Given the description of an element on the screen output the (x, y) to click on. 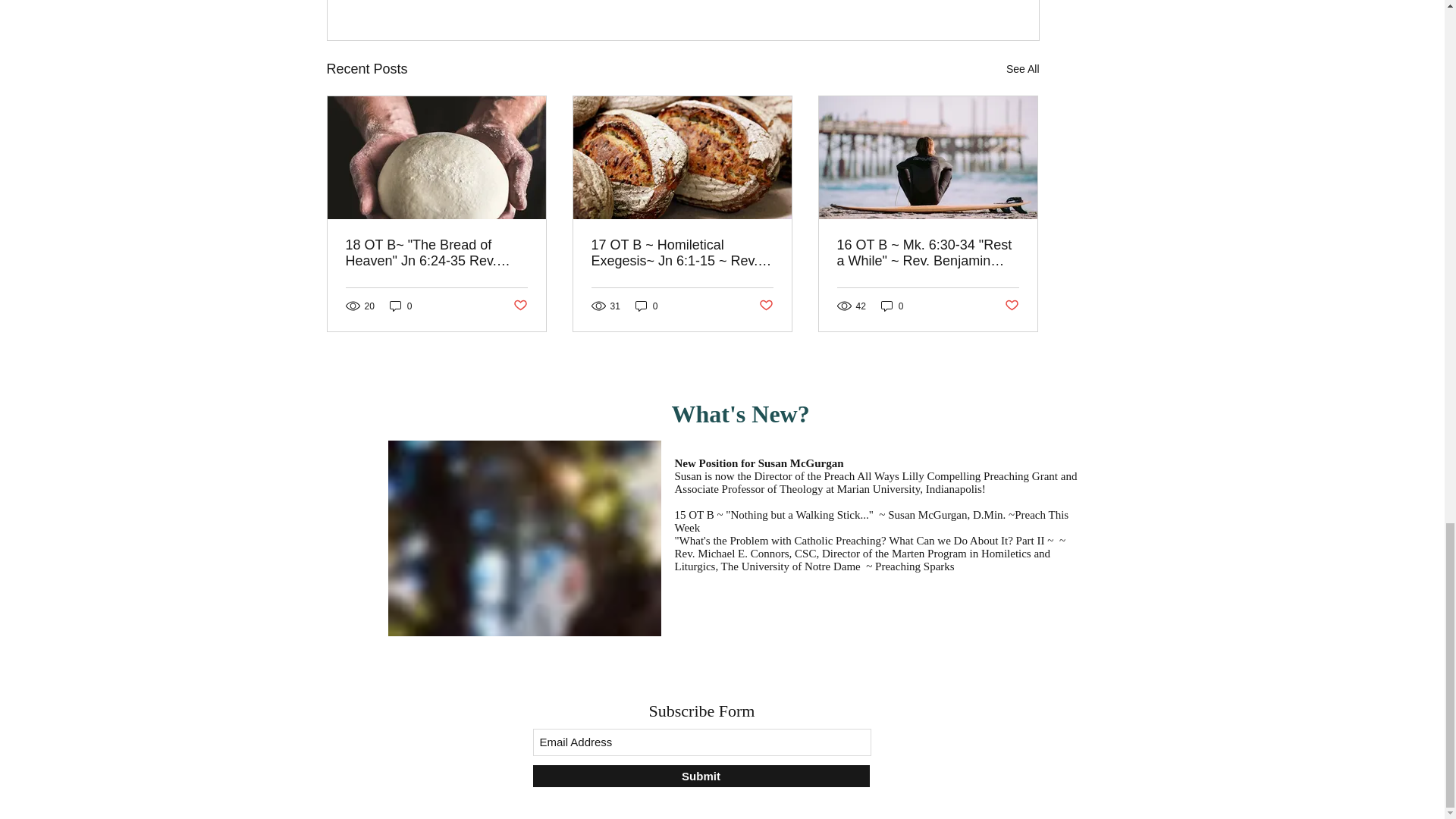
See All (1022, 69)
Post not marked as liked (519, 305)
Post not marked as liked (765, 305)
0 (892, 305)
Submit (700, 775)
0 (646, 305)
0 (400, 305)
Post not marked as liked (1010, 305)
